Given the description of an element on the screen output the (x, y) to click on. 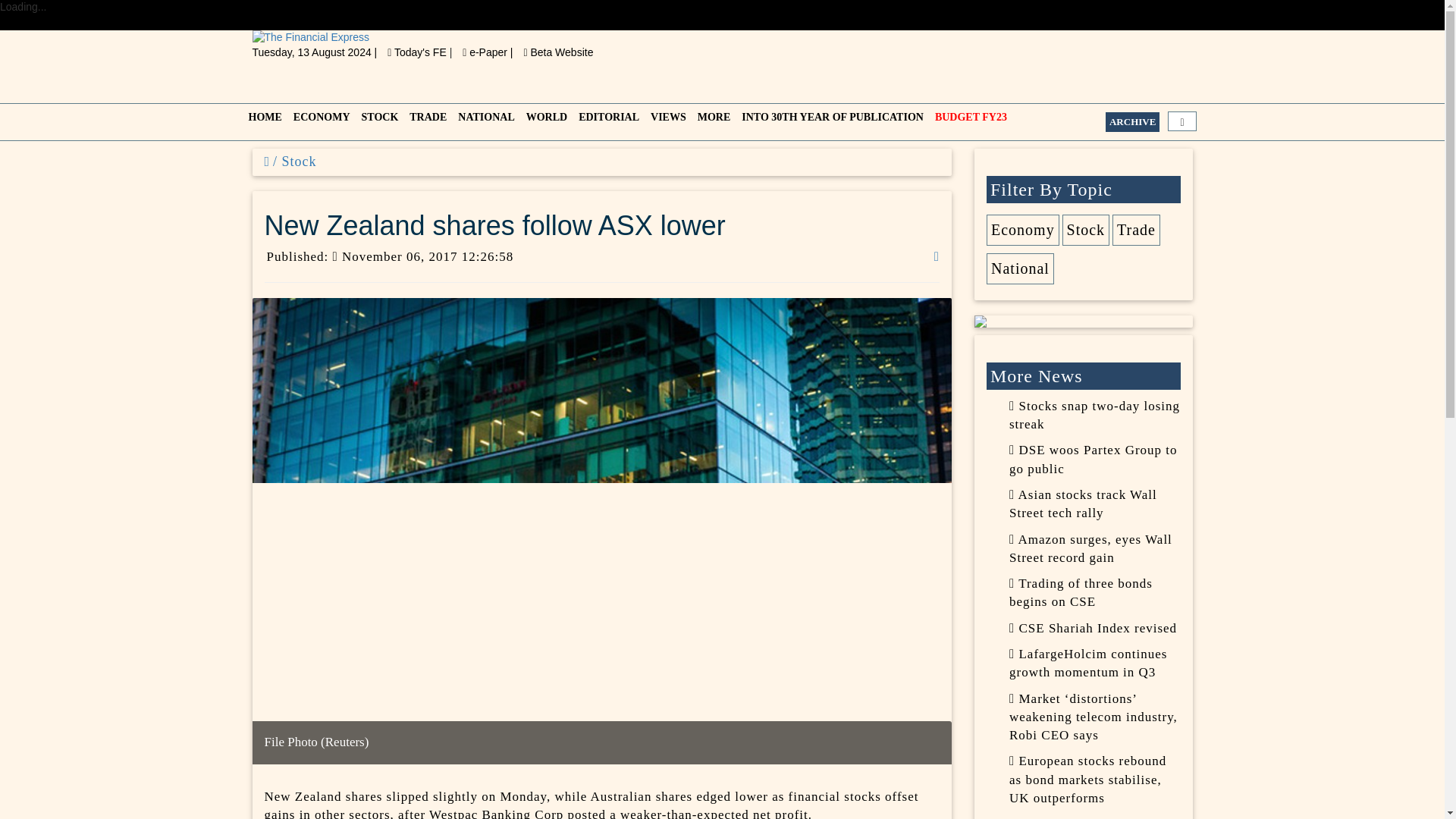
NATIONAL (483, 122)
TRADE (425, 122)
MORE (712, 122)
STOCK (378, 122)
WORLD (544, 122)
Today's FE (417, 51)
EDITORIAL (606, 122)
ARCHIVE (1131, 121)
VIEWS (666, 122)
ECONOMY (319, 122)
